Given the description of an element on the screen output the (x, y) to click on. 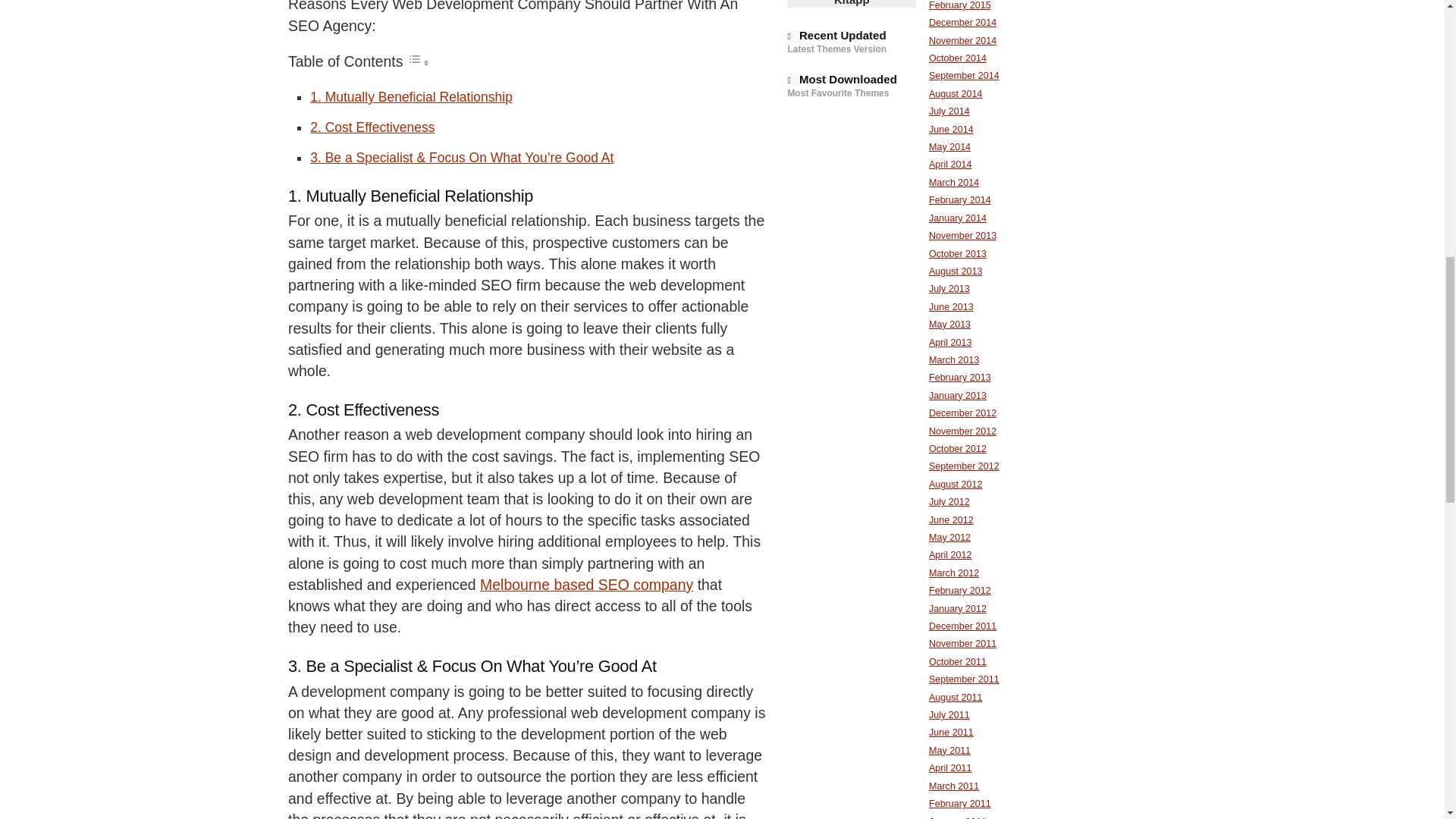
2. Cost Effectiveness (371, 127)
2. Cost Effectiveness (371, 127)
1. Mutually Beneficial Relationship (411, 96)
1. Mutually Beneficial Relationship (411, 96)
Melbourne based SEO company (586, 584)
